Given the description of an element on the screen output the (x, y) to click on. 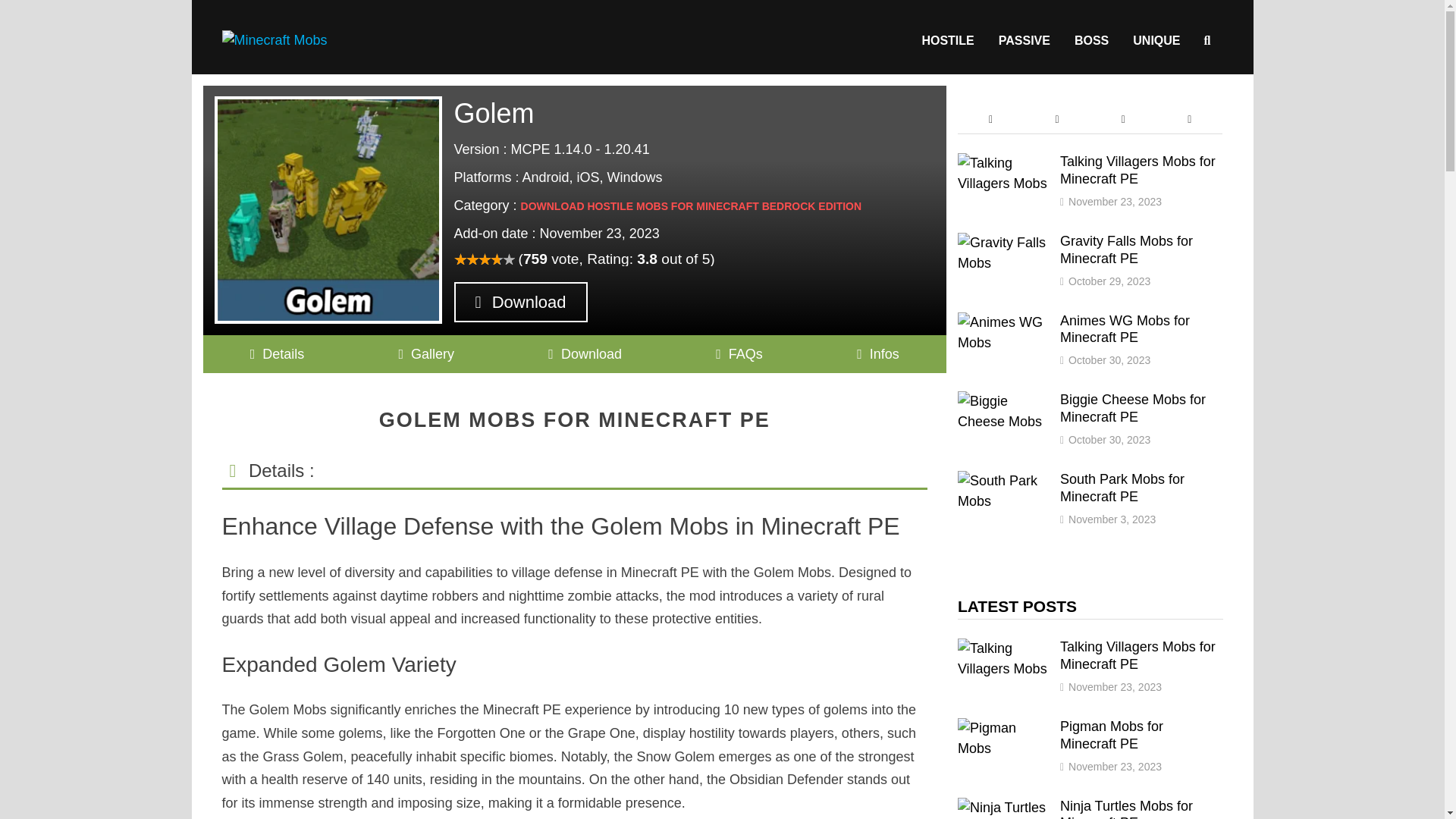
HOSTILE (946, 40)
PASSIVE (1024, 40)
South Park Mobs for Minecraft PE (1003, 480)
DOWNLOAD HOSTILE MOBS FOR MINECRAFT BEDROCK EDITION (691, 205)
Gallery (426, 353)
UNIQUE (1156, 40)
Details (277, 353)
Animes WG Mobs for Minecraft PE (1003, 322)
Talking Villagers Mobs for Minecraft PE (1003, 162)
FAQs (739, 353)
